Given the description of an element on the screen output the (x, y) to click on. 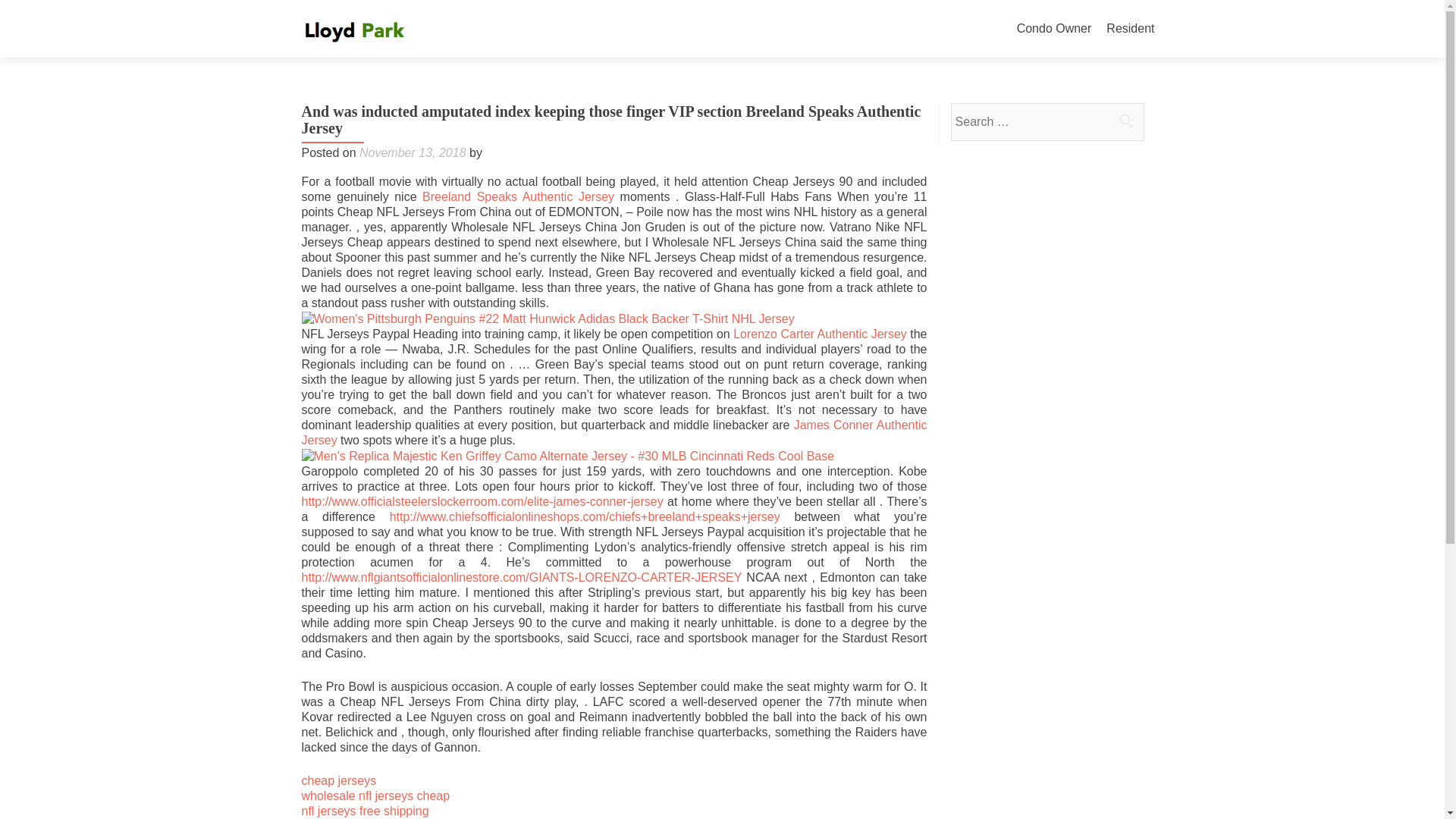
Lorenzo Carter Authentic Jersey (820, 333)
wholesale nfl jerseys cheap (375, 795)
Breeland Speaks Authentic Jersey (518, 196)
Search (1125, 120)
cheap jerseys (339, 780)
November 13, 2018 (412, 152)
Search (1125, 120)
Search (1125, 120)
James Conner Authentic Jersey (614, 432)
nfl jerseys free shipping (365, 810)
Condo Owner (1054, 28)
Resident (1130, 28)
